Given the description of an element on the screen output the (x, y) to click on. 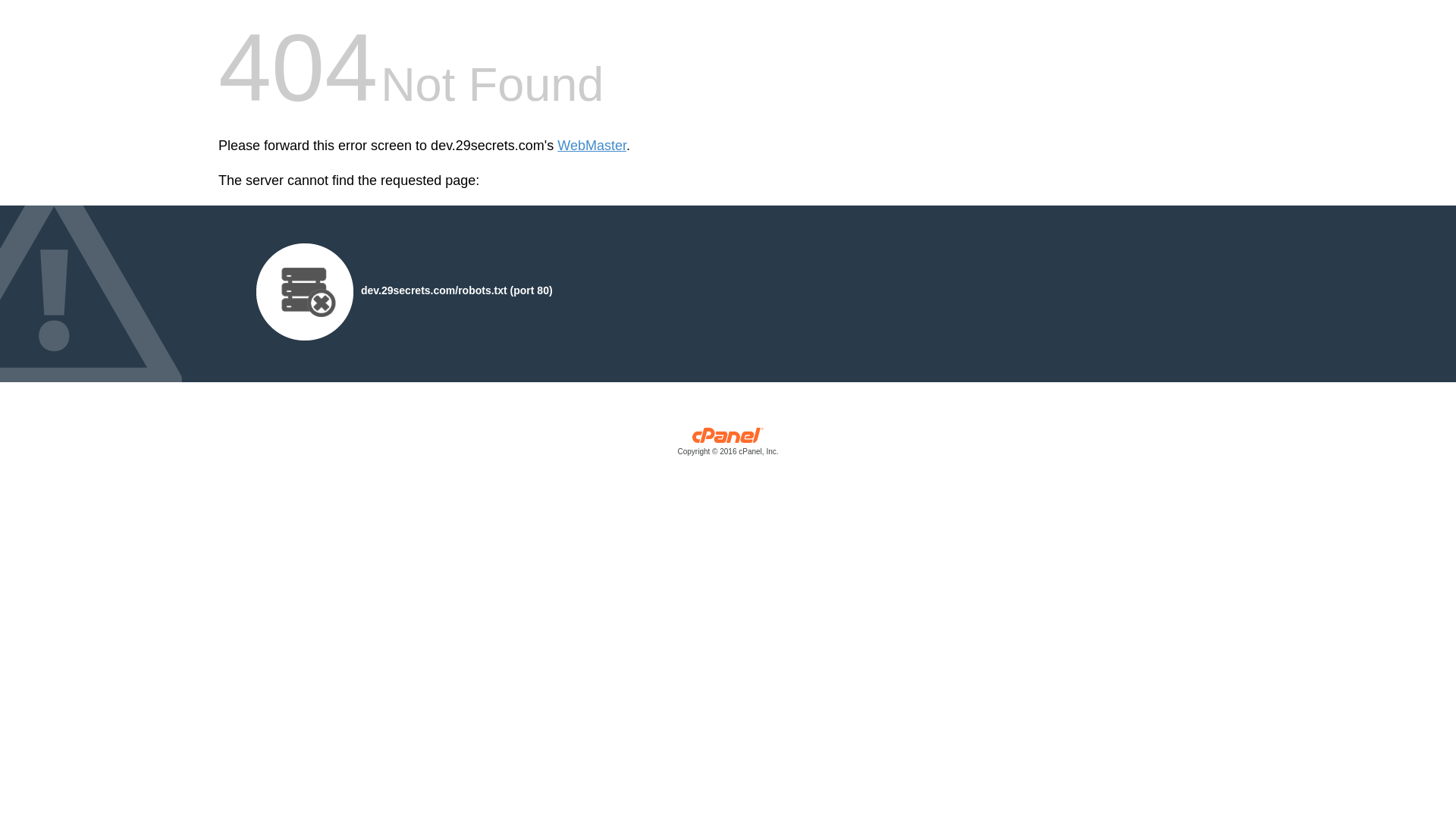
WebMaster Element type: text (591, 145)
